Given the description of an element on the screen output the (x, y) to click on. 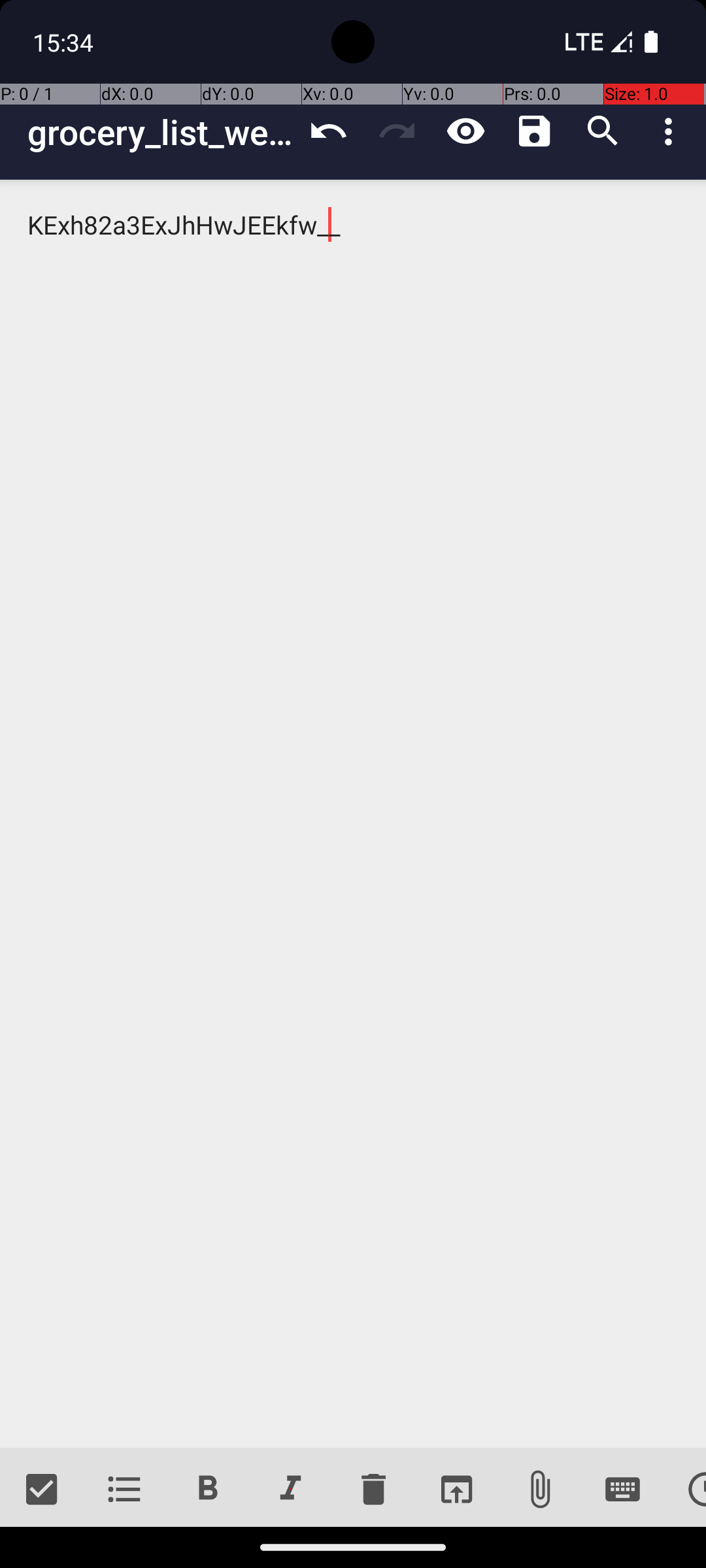
grocery_list_weekly_XyAc Element type: android.widget.TextView (160, 131)
Redo Element type: android.widget.TextView (396, 131)
View mode Element type: android.widget.TextView (465, 131)
KExh82a3ExJhHwJEEkfw__ Element type: android.widget.EditText (353, 813)
Check list Element type: android.widget.ImageView (41, 1488)
Unordered list Element type: android.widget.ImageView (124, 1488)
Bold Element type: android.widget.ImageView (207, 1488)
Italic Element type: android.widget.ImageView (290, 1488)
Delete lines Element type: android.widget.ImageView (373, 1488)
Open link Element type: android.widget.ImageView (456, 1488)
Attach Element type: android.widget.ImageView (539, 1488)
Date and time Element type: android.widget.ImageView (685, 1488)
